Given the description of an element on the screen output the (x, y) to click on. 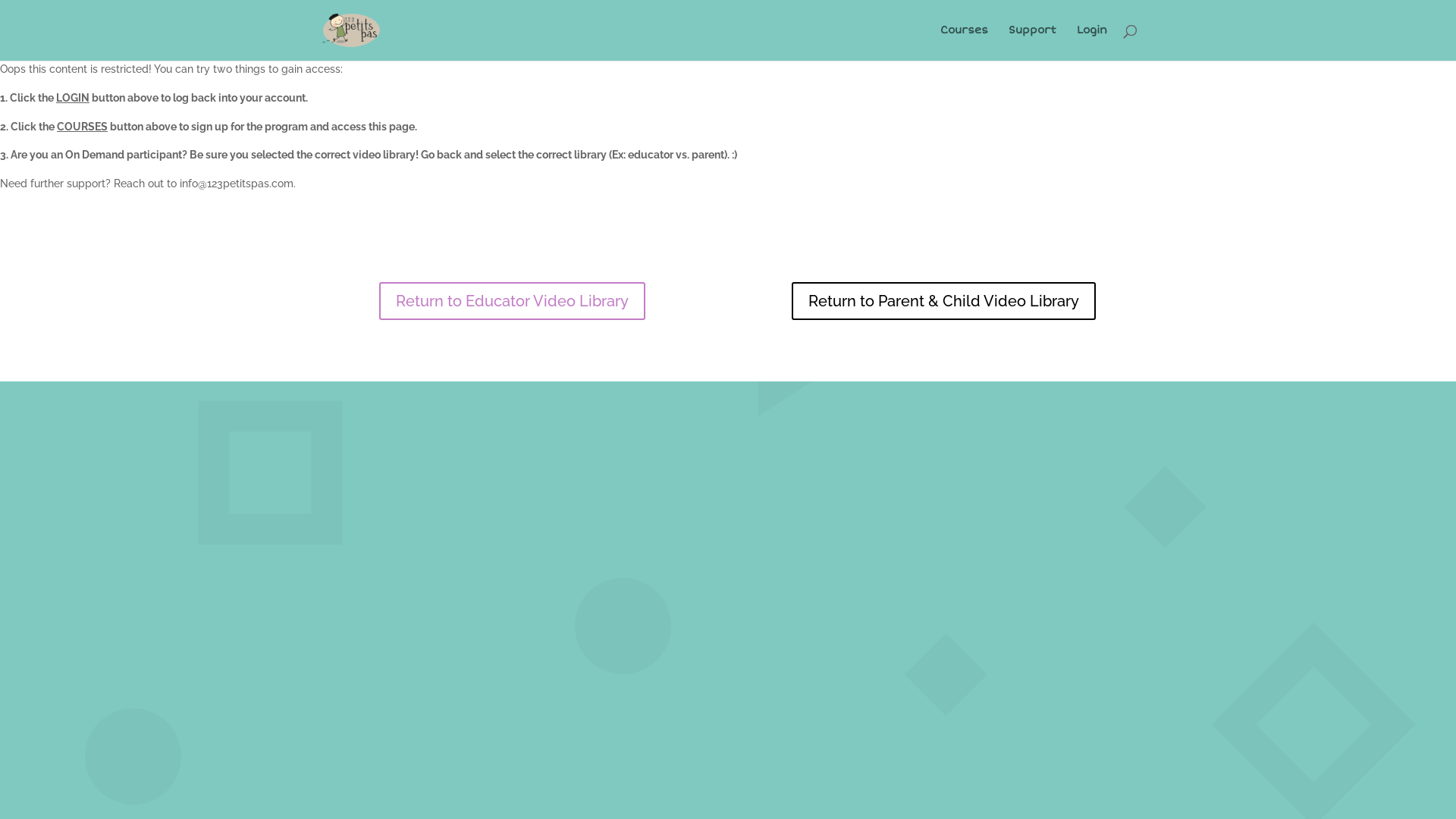
Login Element type: text (1091, 42)
Support Element type: text (1032, 42)
Return to Educator Video Library Element type: text (512, 301)
Courses Element type: text (964, 42)
Return to Parent & Child Video Library Element type: text (943, 301)
